Given the description of an element on the screen output the (x, y) to click on. 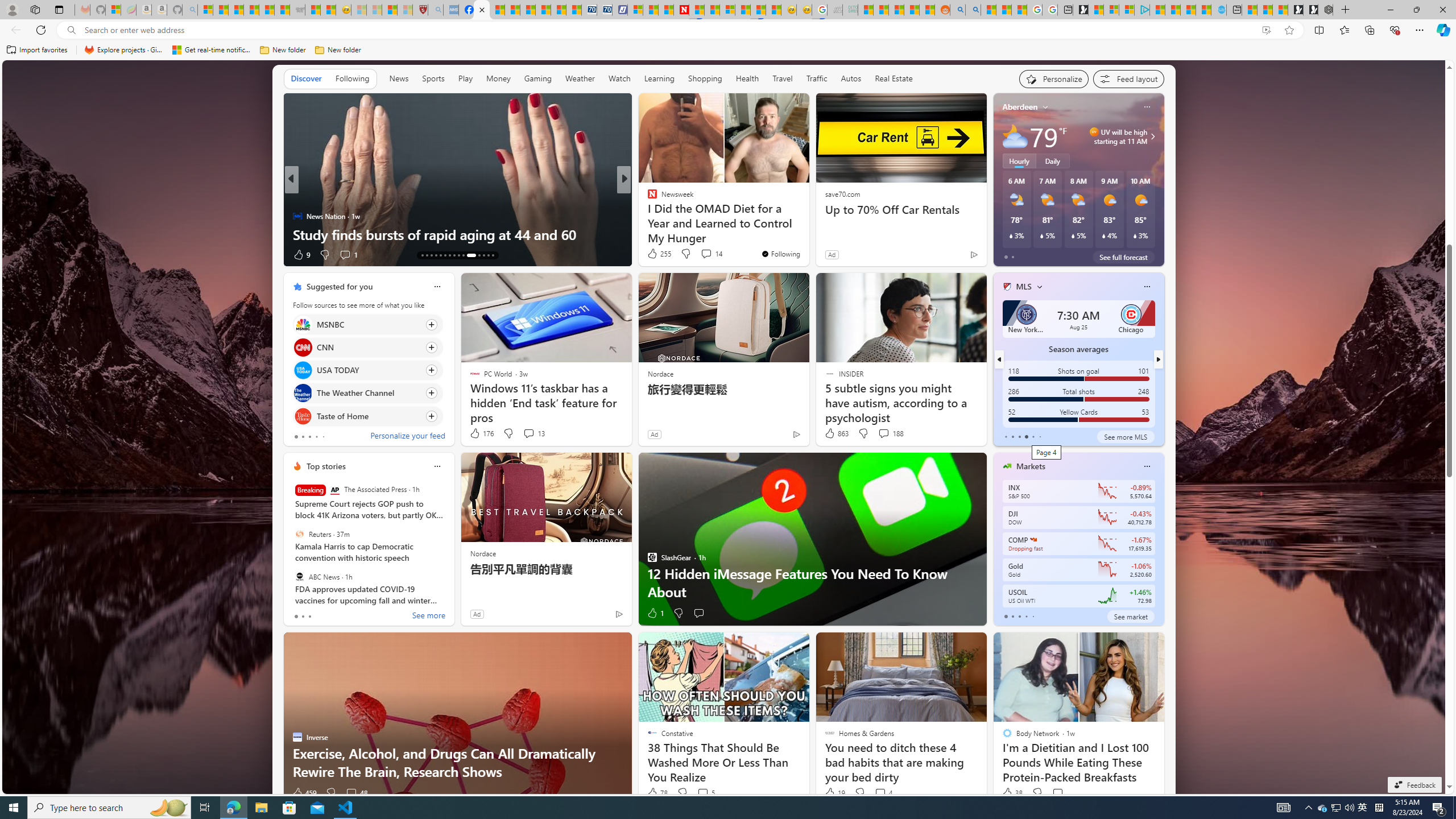
459 Like (303, 792)
Learning (659, 79)
Personalize your feed" (1054, 78)
